Given the description of an element on the screen output the (x, y) to click on. 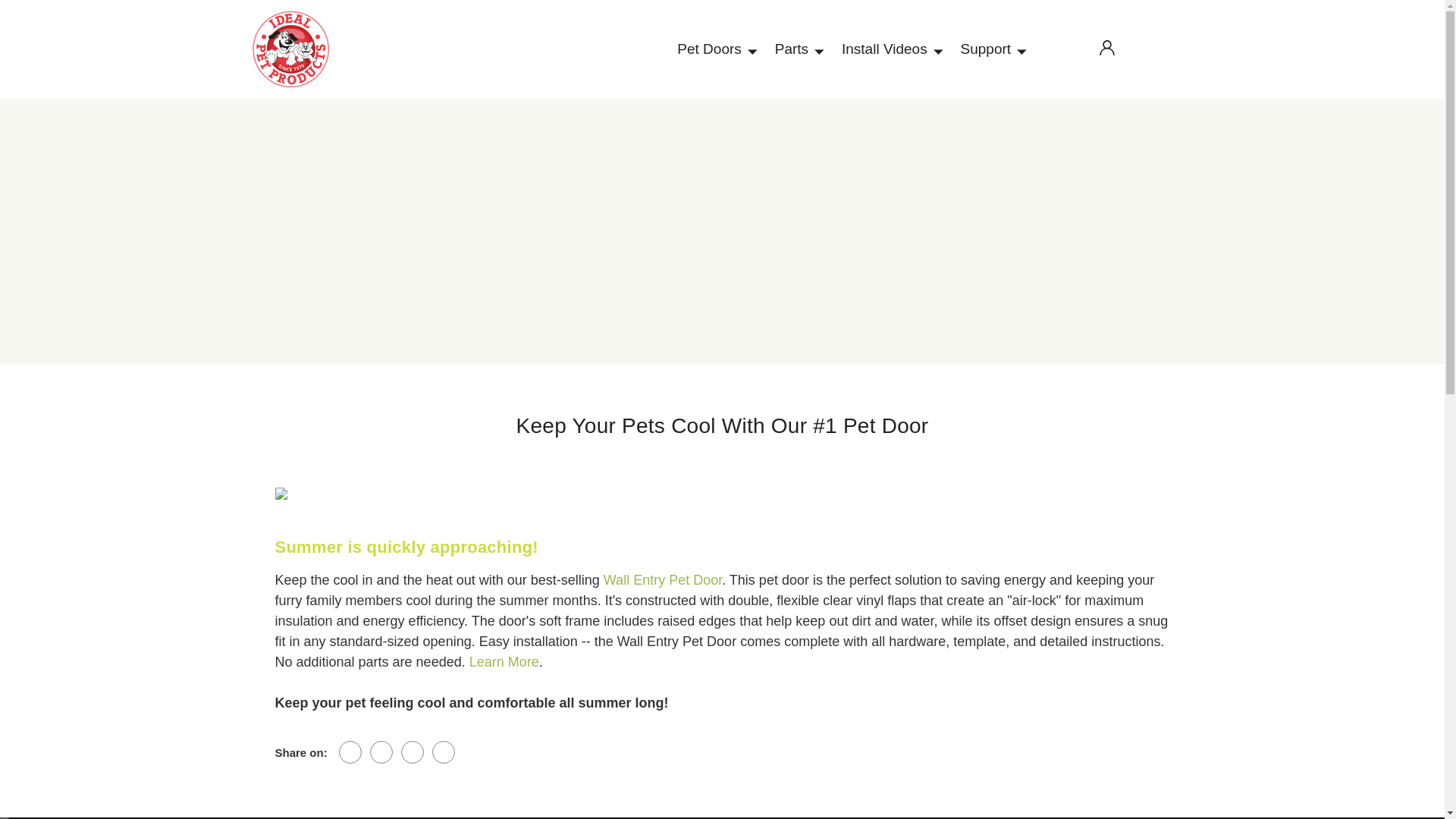
Facebook (350, 752)
Pinterest (443, 752)
User Account (1112, 47)
Parts (797, 49)
Install Videos (890, 49)
Shop Doors and More (319, 48)
Email (381, 752)
Print (412, 752)
Pet Doors (714, 49)
Support (991, 49)
